Given the description of an element on the screen output the (x, y) to click on. 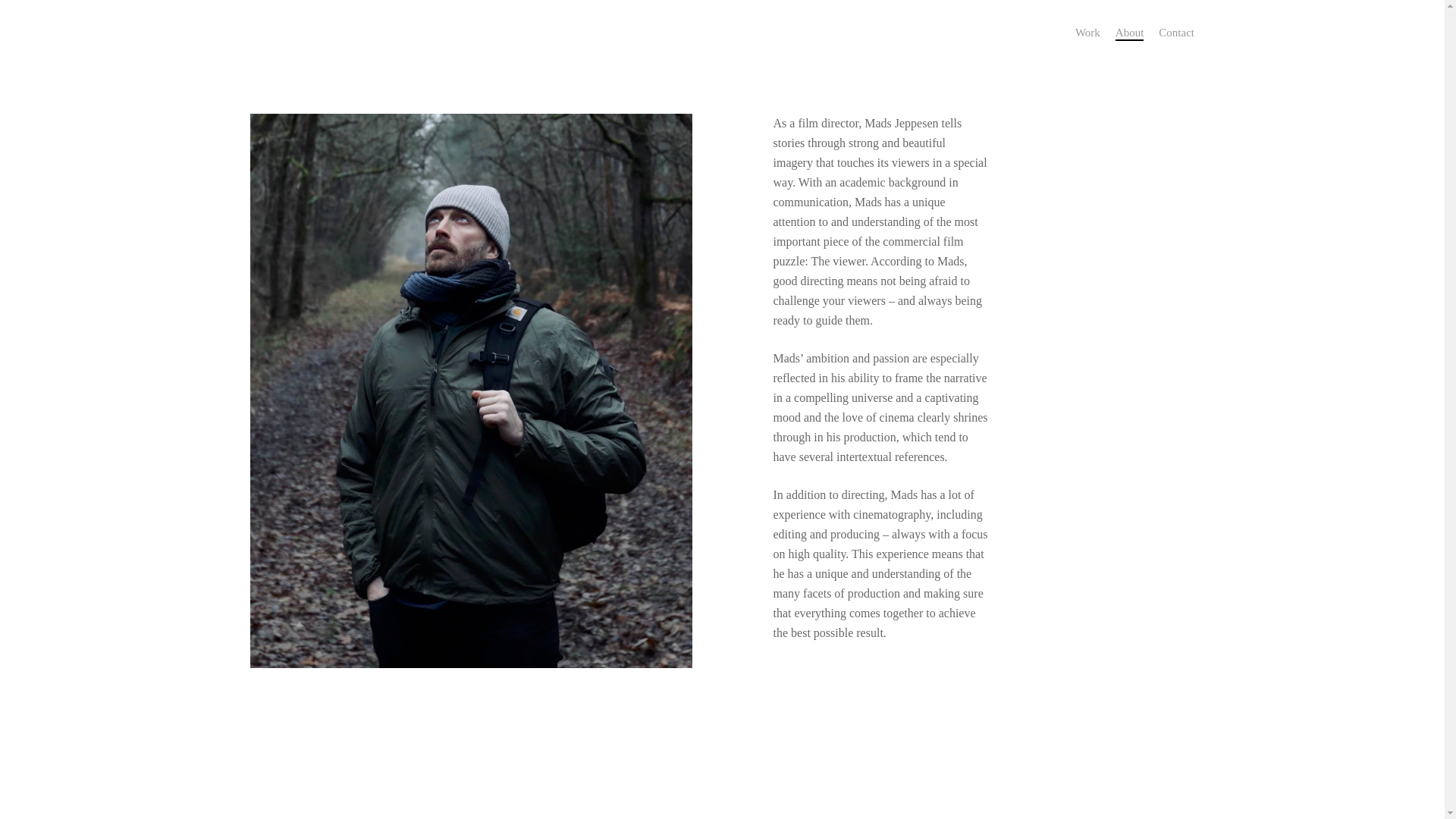
Work (1087, 32)
Contact (1175, 32)
About (1129, 32)
